Given the description of an element on the screen output the (x, y) to click on. 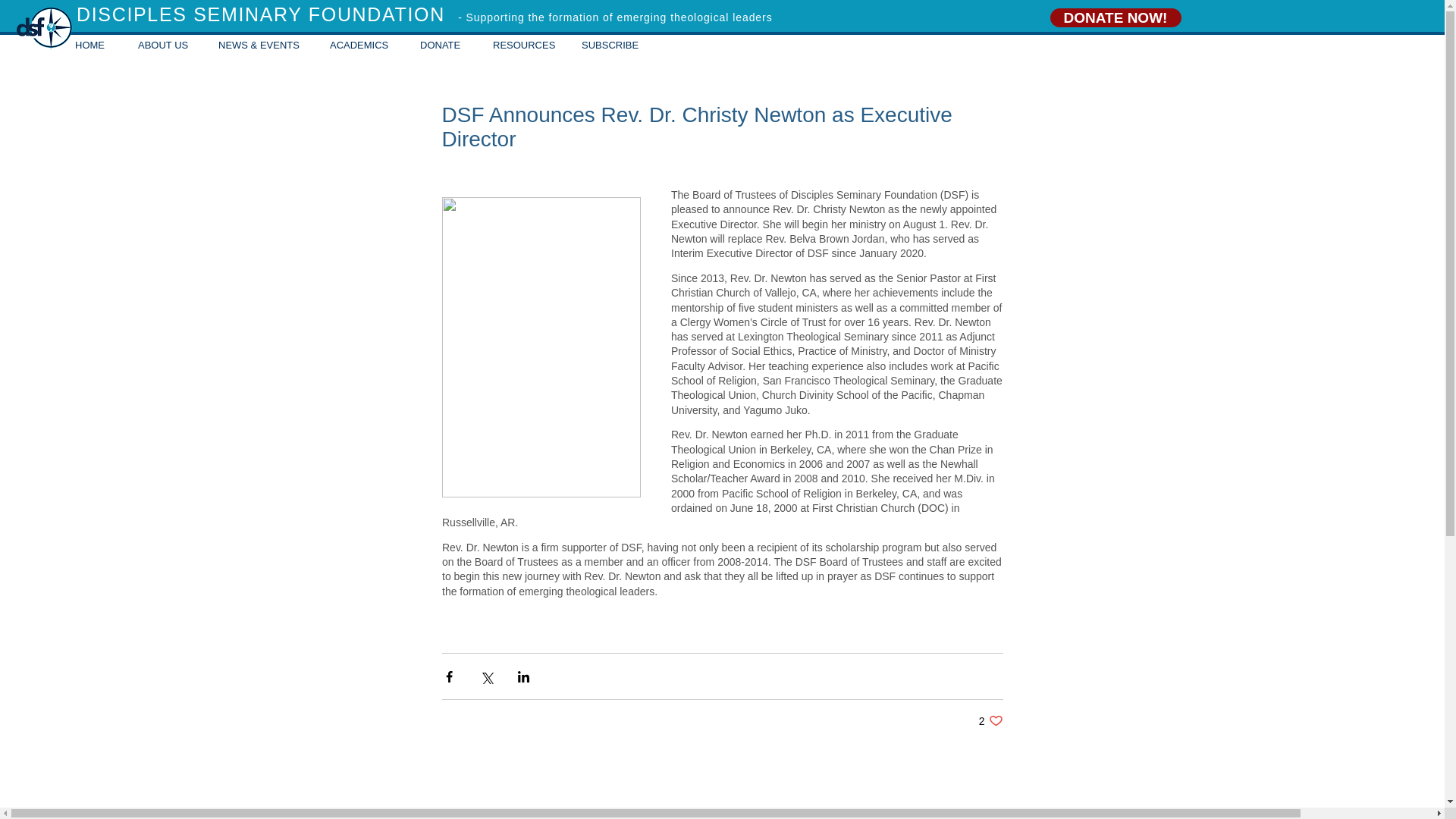
DONATE NOW! (1114, 17)
SUBSCRIBE (611, 45)
HOME (990, 720)
ABOUT US (95, 45)
